Given the description of an element on the screen output the (x, y) to click on. 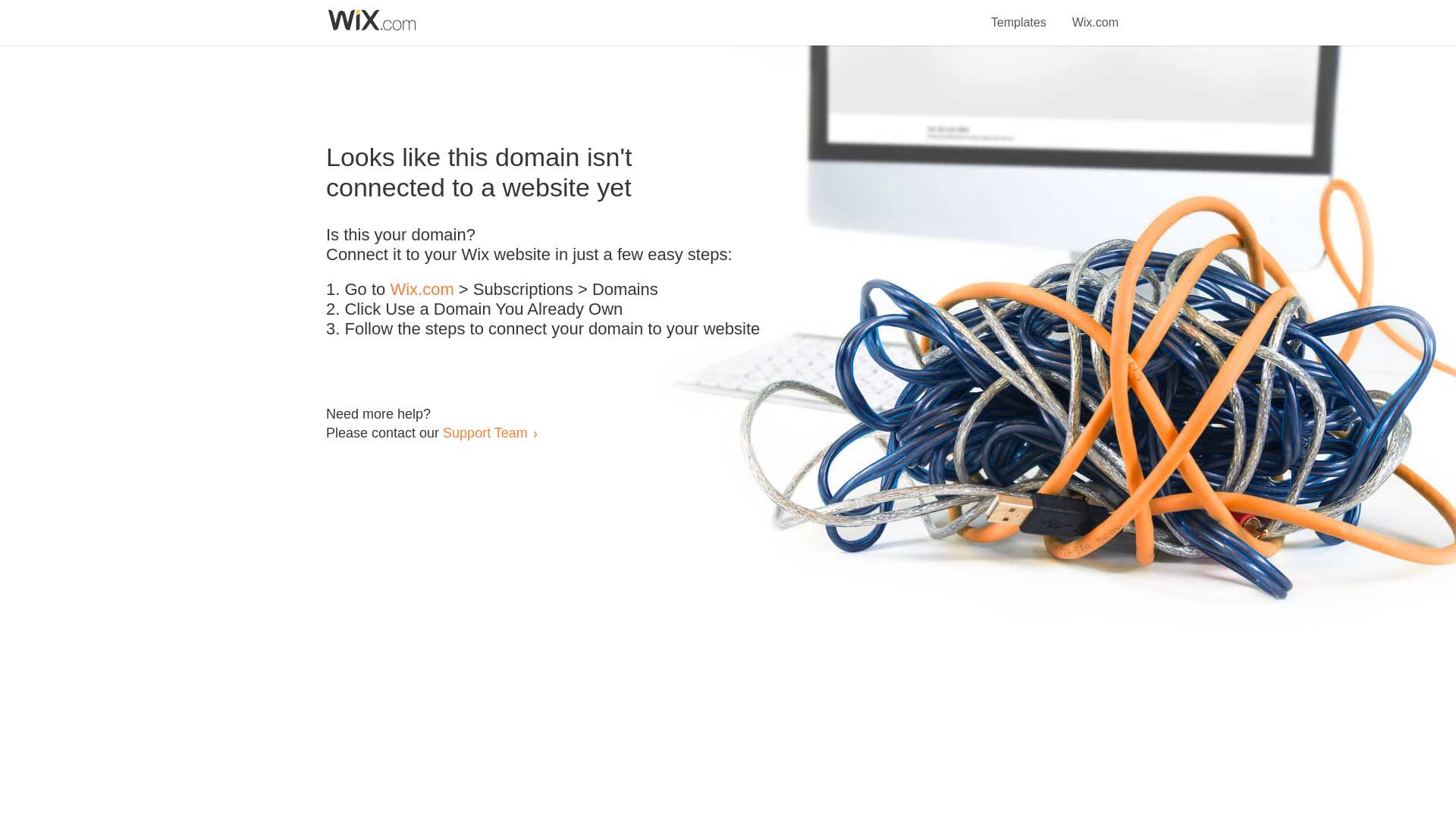
Support Team (484, 432)
Wix.com (421, 289)
Wix.com (1095, 14)
Templates (1018, 14)
